Given the description of an element on the screen output the (x, y) to click on. 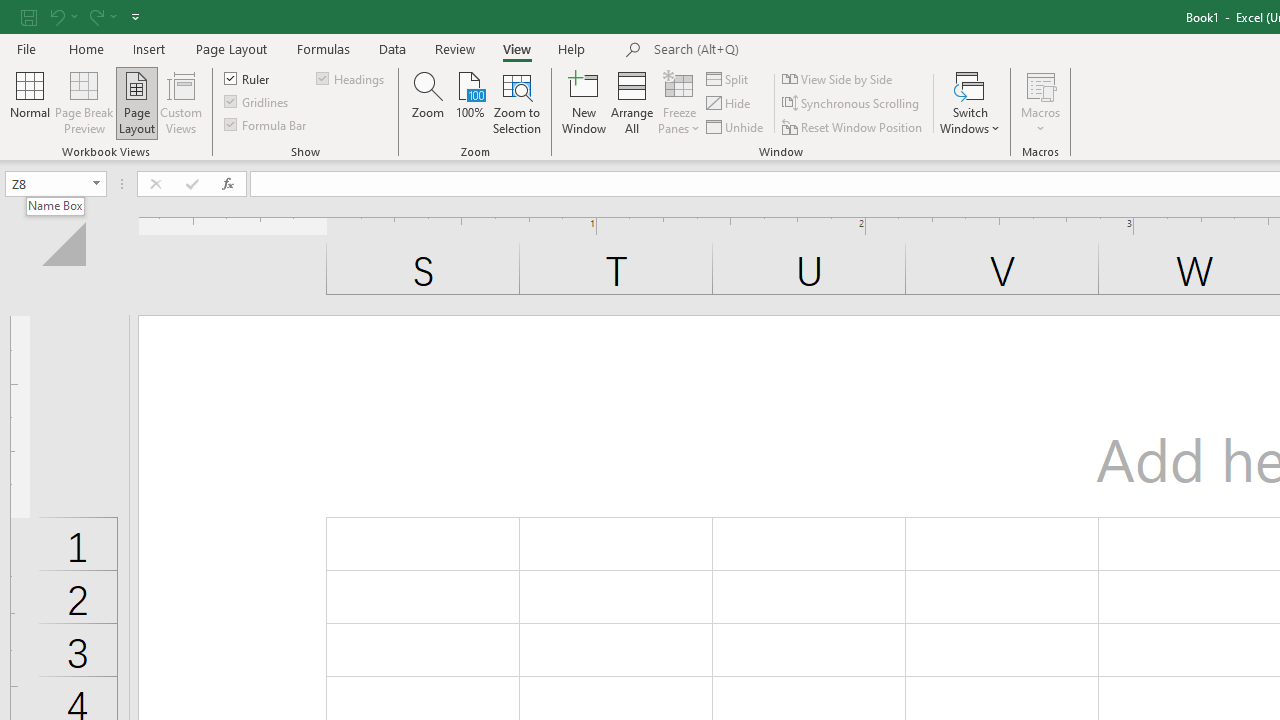
Unhide... (736, 126)
